Given the description of an element on the screen output the (x, y) to click on. 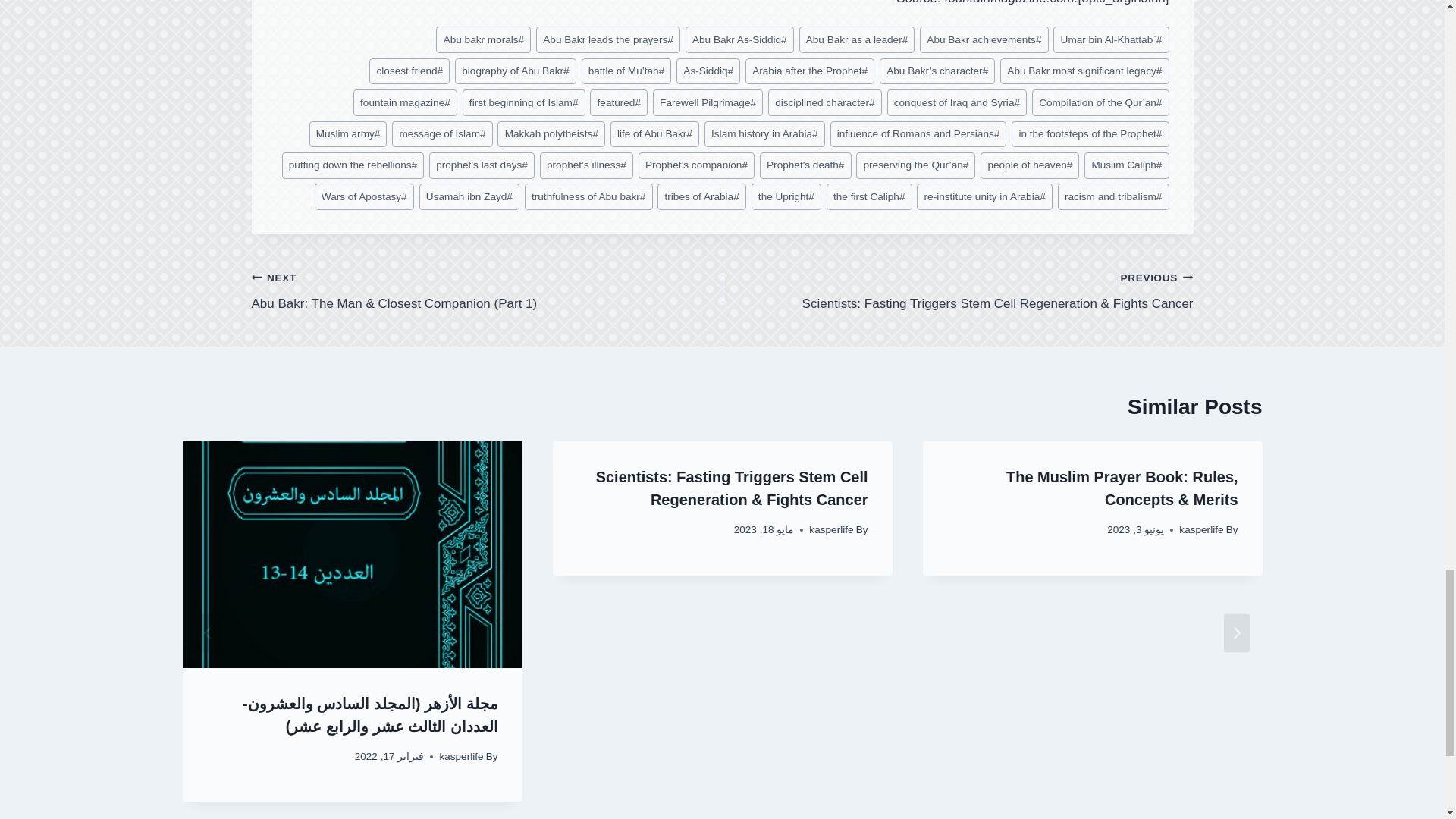
Arabia after the Prophet (810, 71)
Abu Bakr most significant legacy (1084, 71)
Abu Bakr leads the prayers (607, 39)
Abu Bakr achievements (984, 39)
Abu Bakr as a leader (857, 39)
As-Siddiq (708, 71)
biography of Abu Bakr (515, 71)
Abu Bakr As-Siddiq (739, 39)
Abu bakr morals (483, 39)
